Given the description of an element on the screen output the (x, y) to click on. 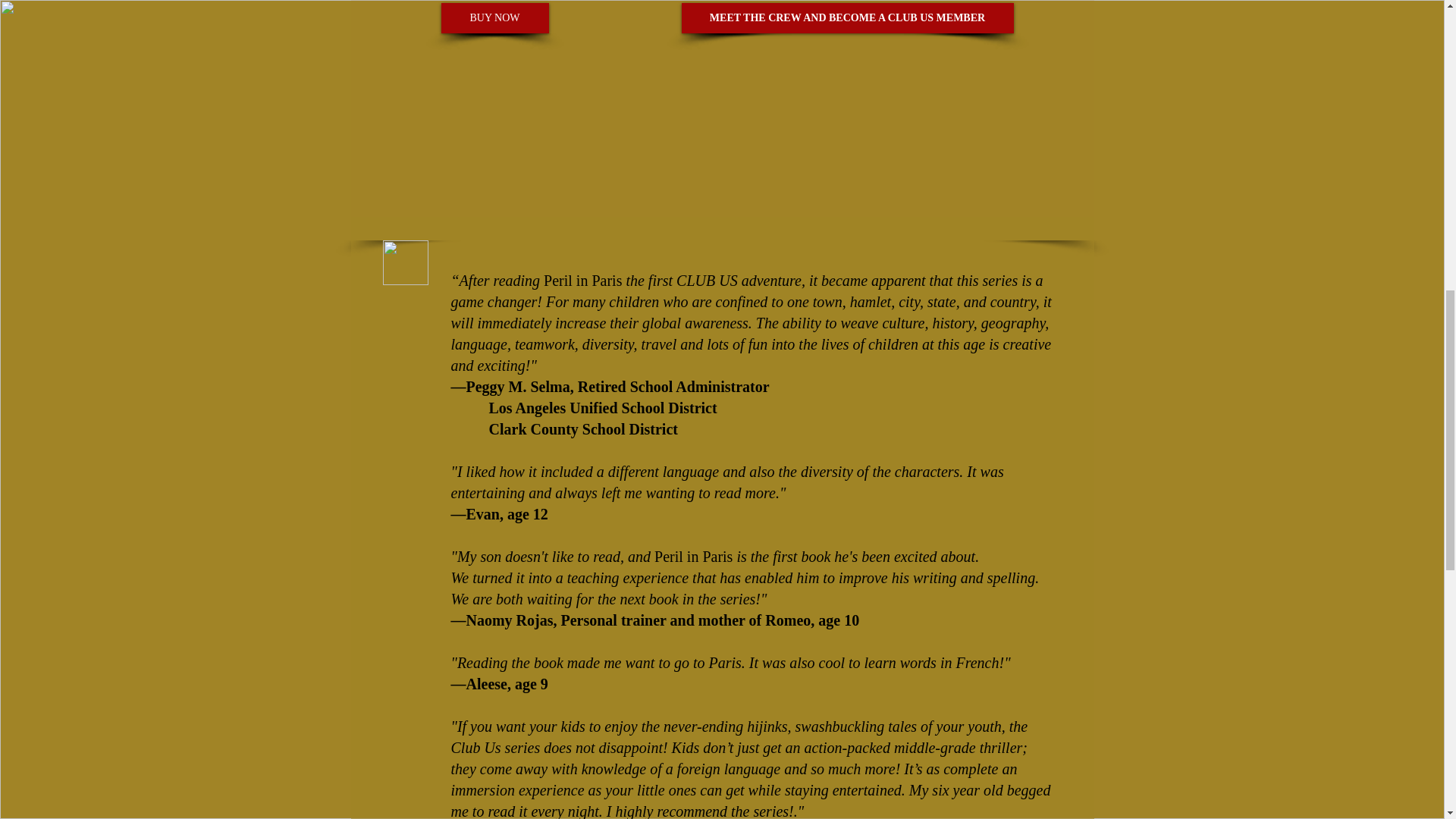
BUY NOW (494, 18)
MEET THE CREW AND BECOME A CLUB US MEMBER (847, 18)
